Given the description of an element on the screen output the (x, y) to click on. 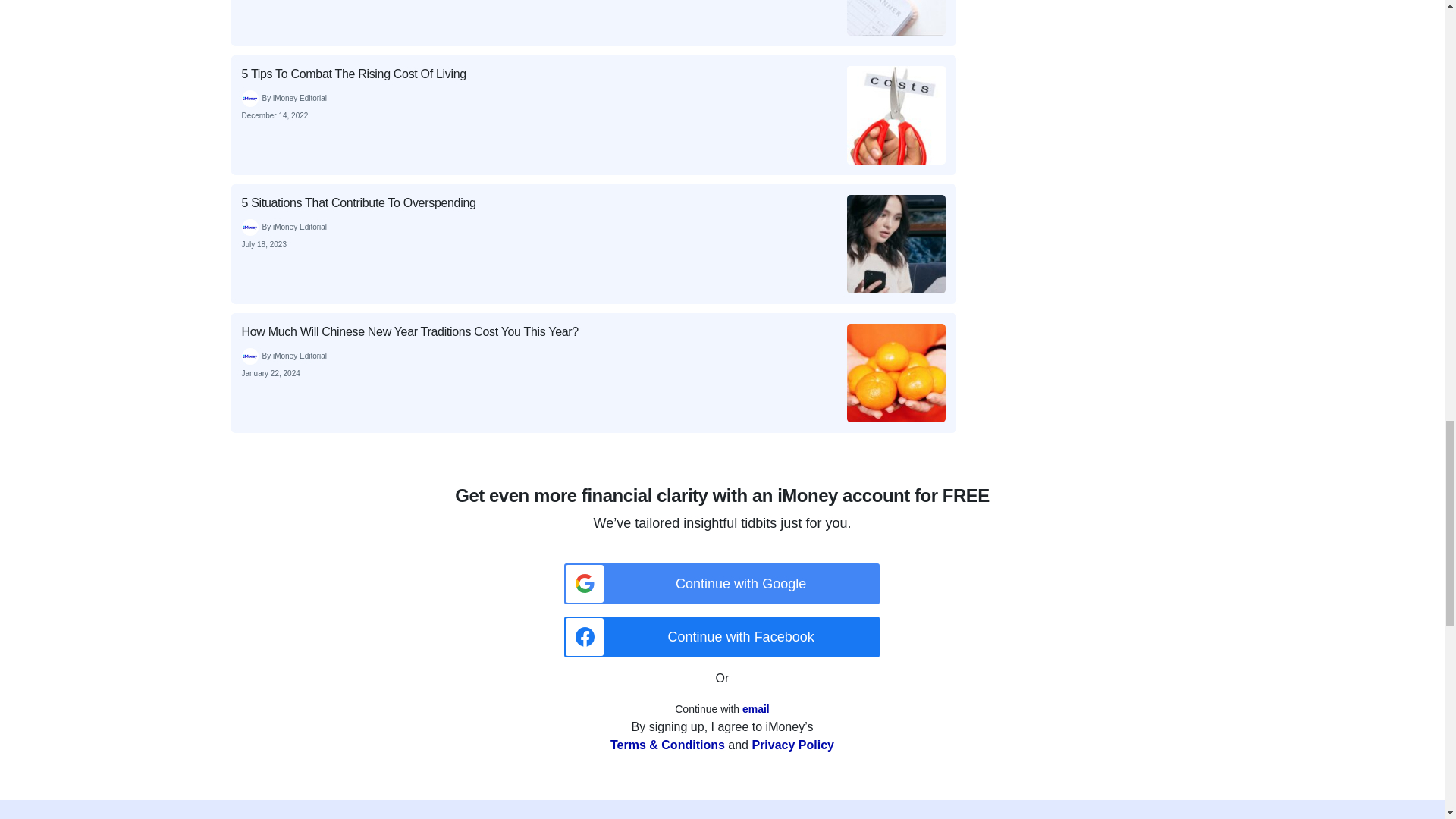
5 Tips To Combat The Rising Cost Of Living (592, 115)
